Given the description of an element on the screen output the (x, y) to click on. 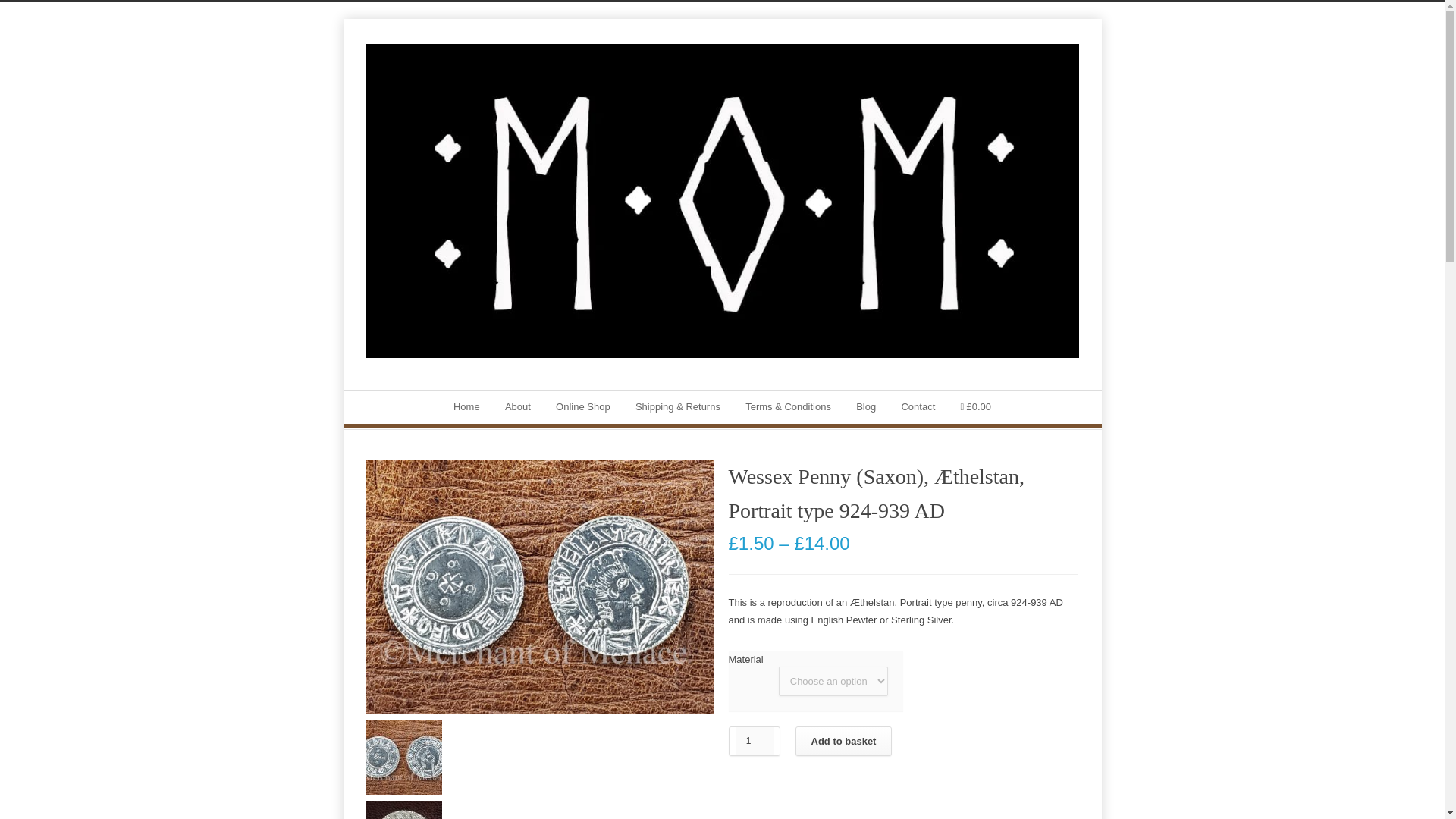
About (518, 406)
1 (754, 741)
Aethelstanpenny (539, 587)
PayPal Message 1 (902, 795)
Contact (917, 406)
Blog (866, 406)
Athelstan silver 20 obv (403, 809)
Start shopping (975, 407)
PayPal (902, 816)
Aethelstanpenny (403, 757)
07367 121 688 (620, 370)
Home (466, 406)
Add to basket (842, 740)
Online Shop (583, 406)
